Given the description of an element on the screen output the (x, y) to click on. 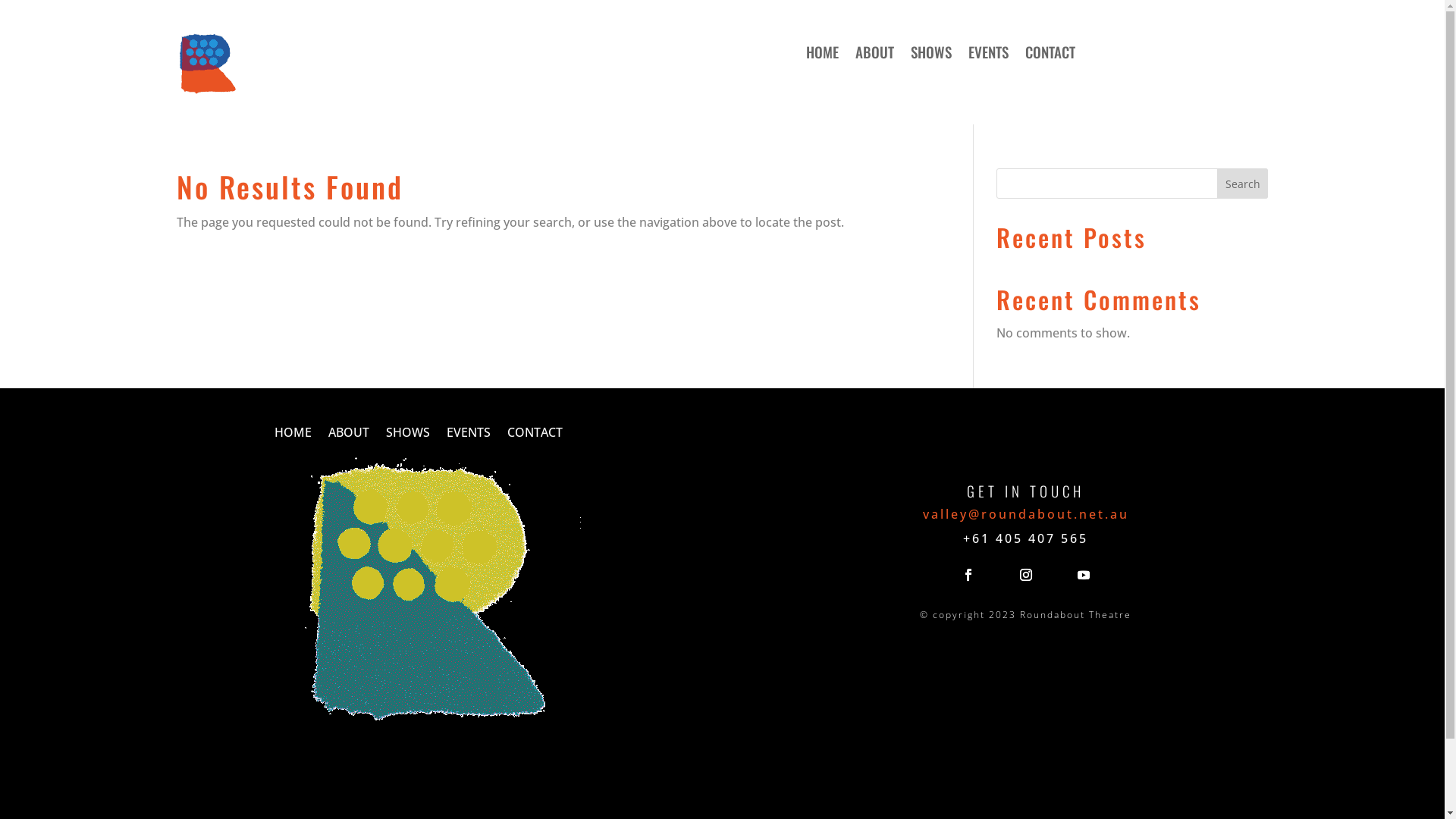
logo-animation-clear Element type: hover (429, 593)
CONTACT Element type: text (1050, 54)
Follow on Youtube Element type: hover (1083, 574)
ra-logo Element type: hover (206, 63)
SHOWS Element type: text (407, 434)
HOME Element type: text (292, 434)
Follow on Instagram Element type: hover (1025, 574)
HOME Element type: text (822, 54)
ABOUT Element type: text (874, 54)
Search Element type: text (1242, 183)
ABOUT Element type: text (348, 434)
SHOWS Element type: text (930, 54)
valley@roundabout.net.au Element type: text (1025, 513)
Follow on Facebook Element type: hover (968, 574)
EVENTS Element type: text (468, 434)
EVENTS Element type: text (988, 54)
CONTACT Element type: text (534, 434)
